Given the description of an element on the screen output the (x, y) to click on. 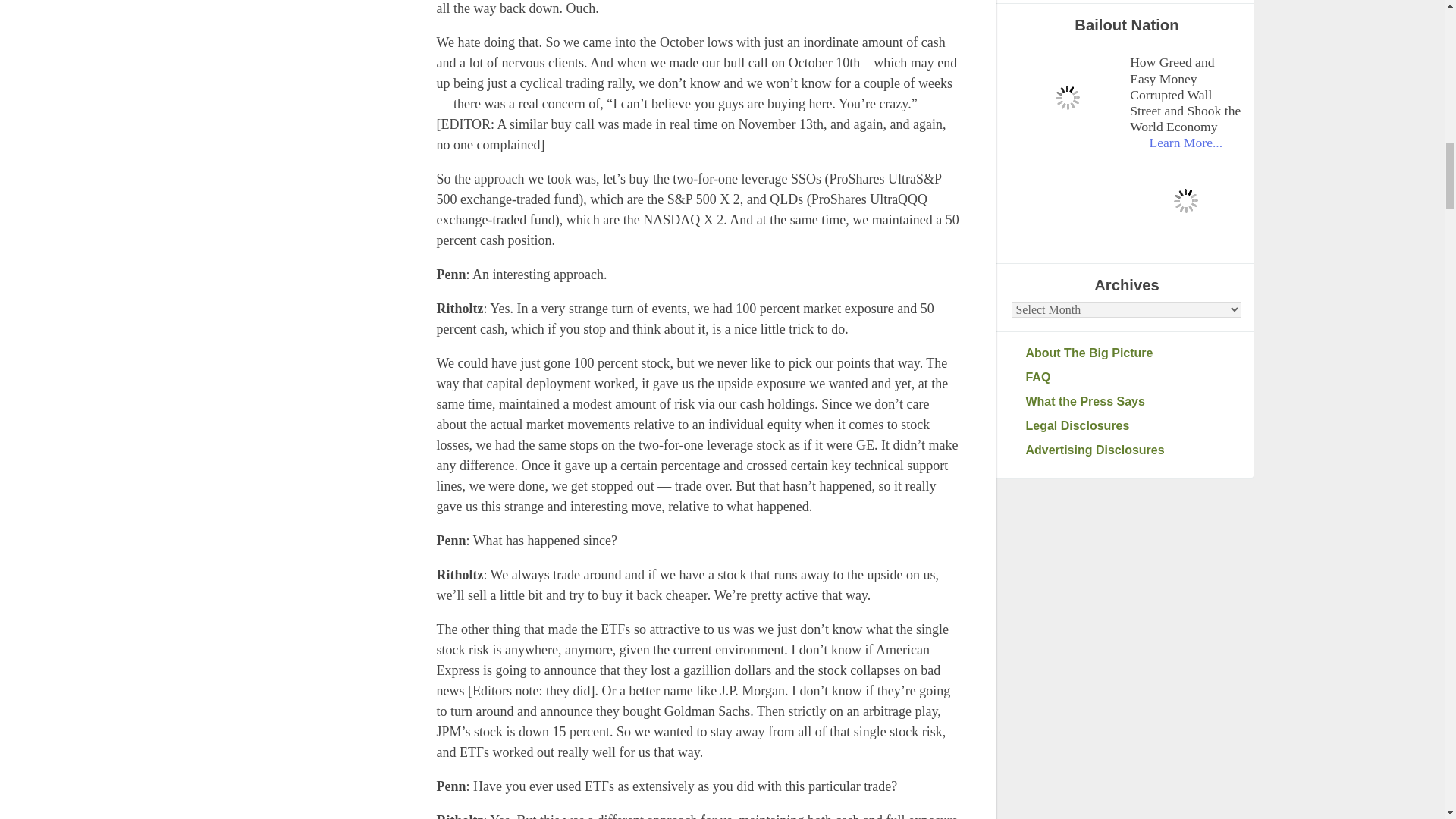
Advertising Disclosures (1133, 450)
About The Big Picture (1133, 352)
Legal Disclosures (1133, 425)
Learn More... (1185, 142)
What the Press Says (1133, 402)
Bailout Nation (1066, 97)
FAQ (1133, 377)
